Given the description of an element on the screen output the (x, y) to click on. 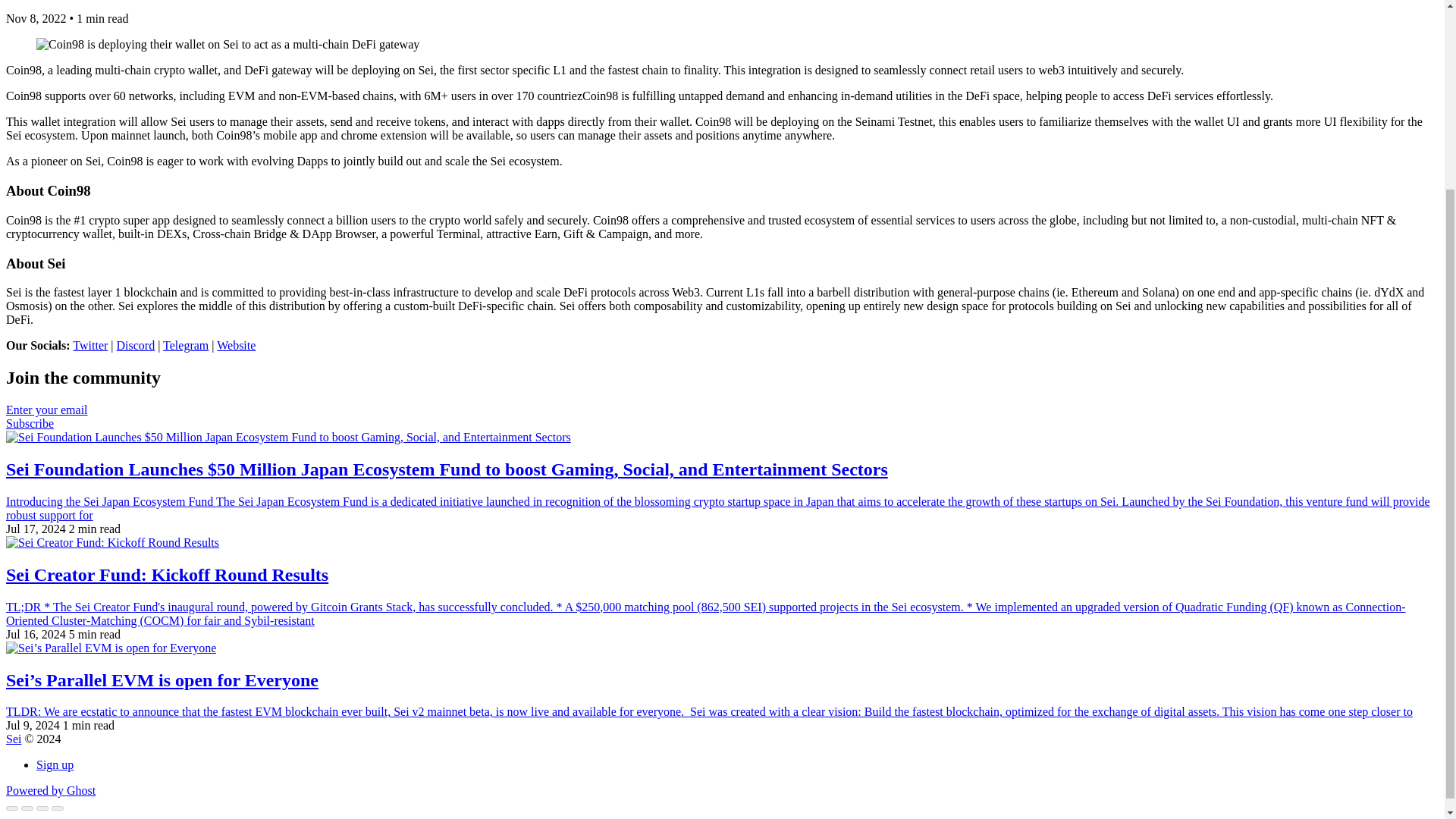
Sign up (55, 764)
Powered by Ghost (50, 789)
Toggle fullscreen (42, 807)
Discord (135, 345)
Website (236, 345)
Share (27, 807)
Telegram (185, 345)
Sei (13, 738)
Twitter (89, 345)
